Given the description of an element on the screen output the (x, y) to click on. 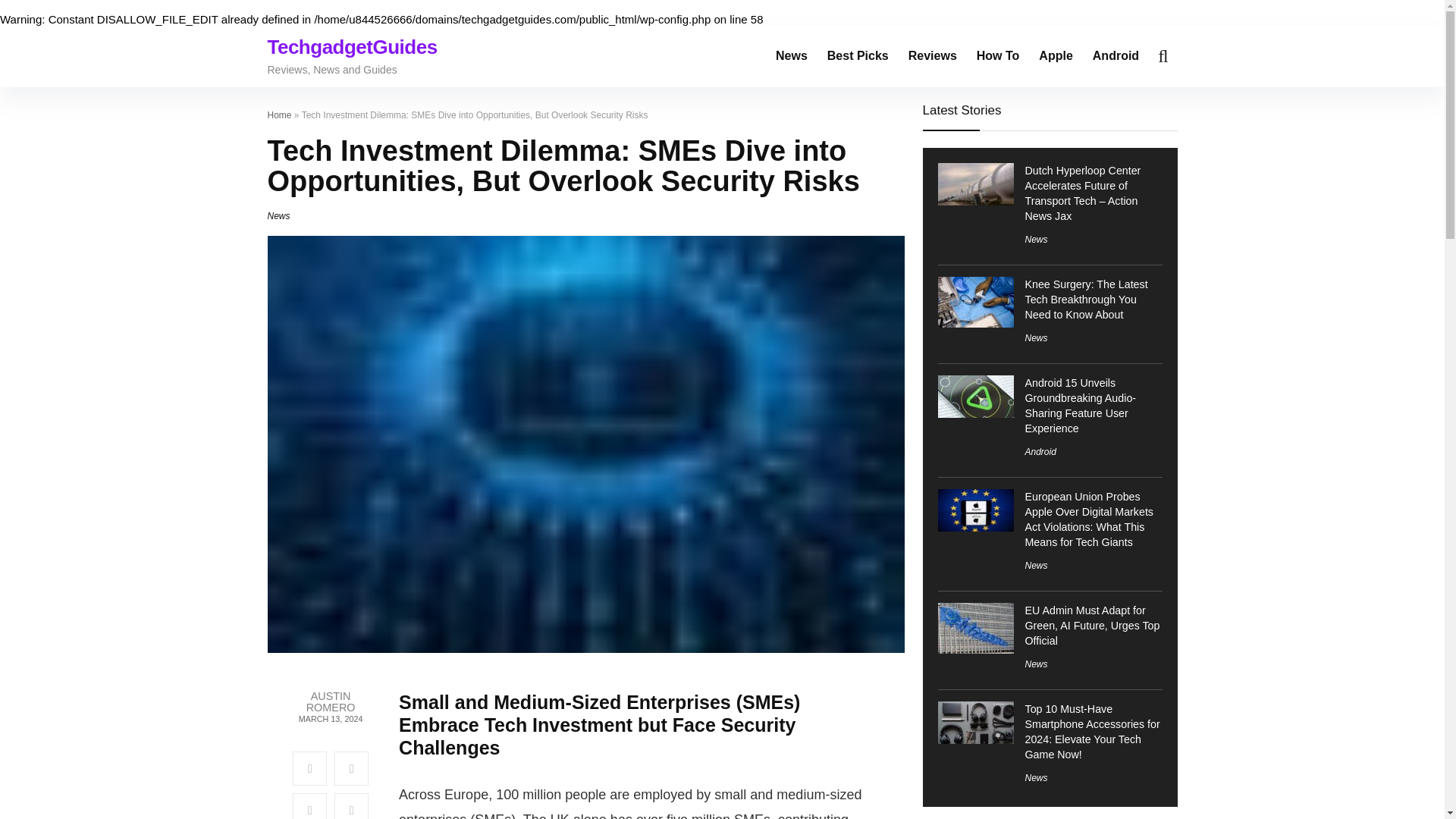
Apple (1055, 56)
News (1036, 664)
Android (1041, 451)
News (277, 215)
AUSTIN ROMERO (330, 702)
News (1036, 337)
EU Admin Must Adapt for Green, AI Future, Urges Top Official (1092, 625)
Best Picks (857, 56)
